Given the description of an element on the screen output the (x, y) to click on. 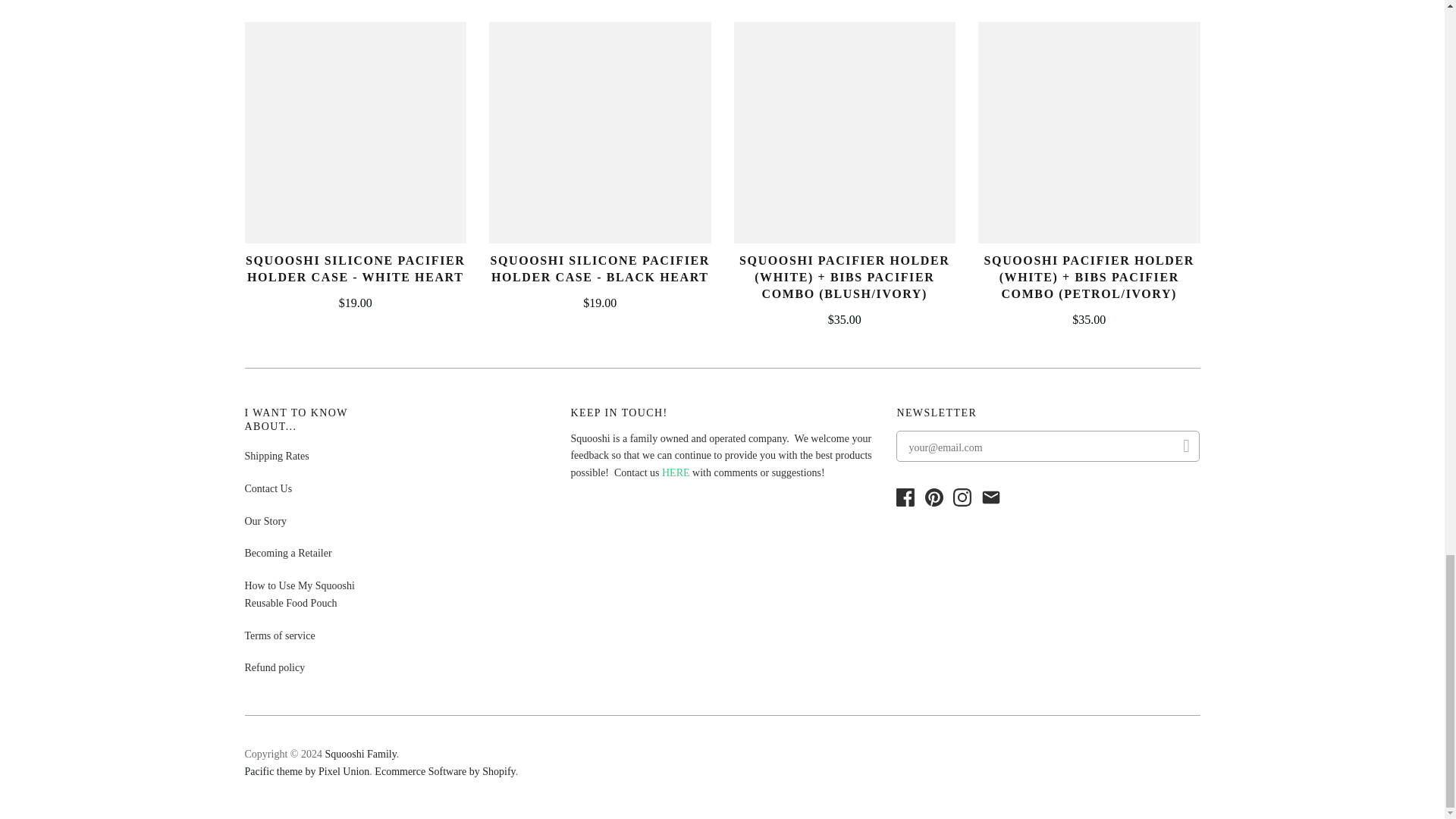
Refund policy (274, 667)
Becoming a Retailer (287, 552)
How to Use My Squooshi Reusable Food Pouch (298, 594)
Facebook (908, 502)
SQUOOSHI SILICONE PACIFIER HOLDER CASE - BLACK HEART (600, 268)
Instagram (962, 497)
HERE (676, 472)
Our Story (265, 521)
Terms of service (279, 635)
Contact Us (268, 488)
Mail (990, 497)
Pinterest (933, 497)
SQUOOSHI SILICONE PACIFIER HOLDER CASE - WHITE HEART (355, 268)
Shipping Rates (276, 455)
Facebook (905, 497)
